Given the description of an element on the screen output the (x, y) to click on. 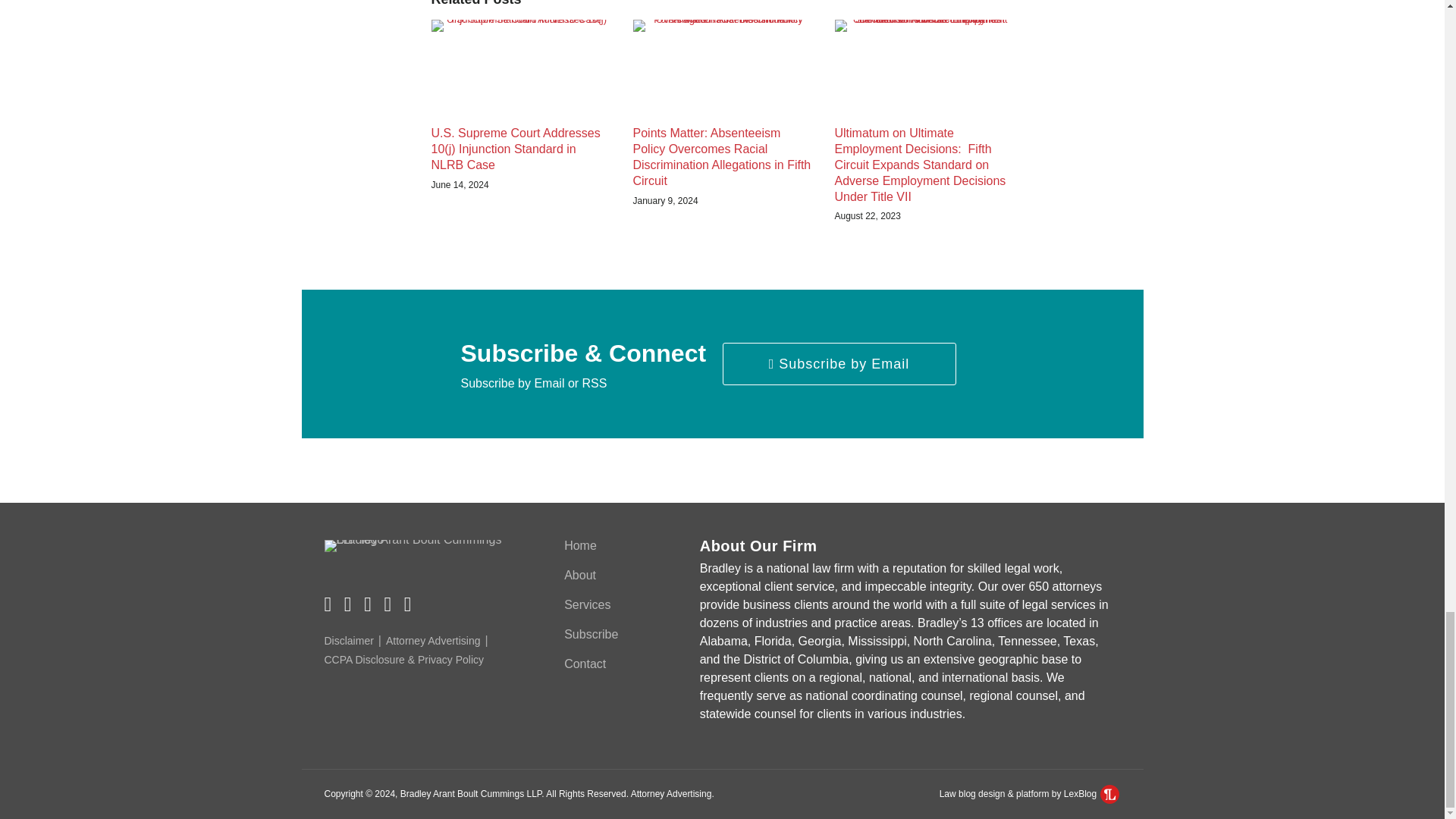
LexBlog Logo (1109, 793)
